Given the description of an element on the screen output the (x, y) to click on. 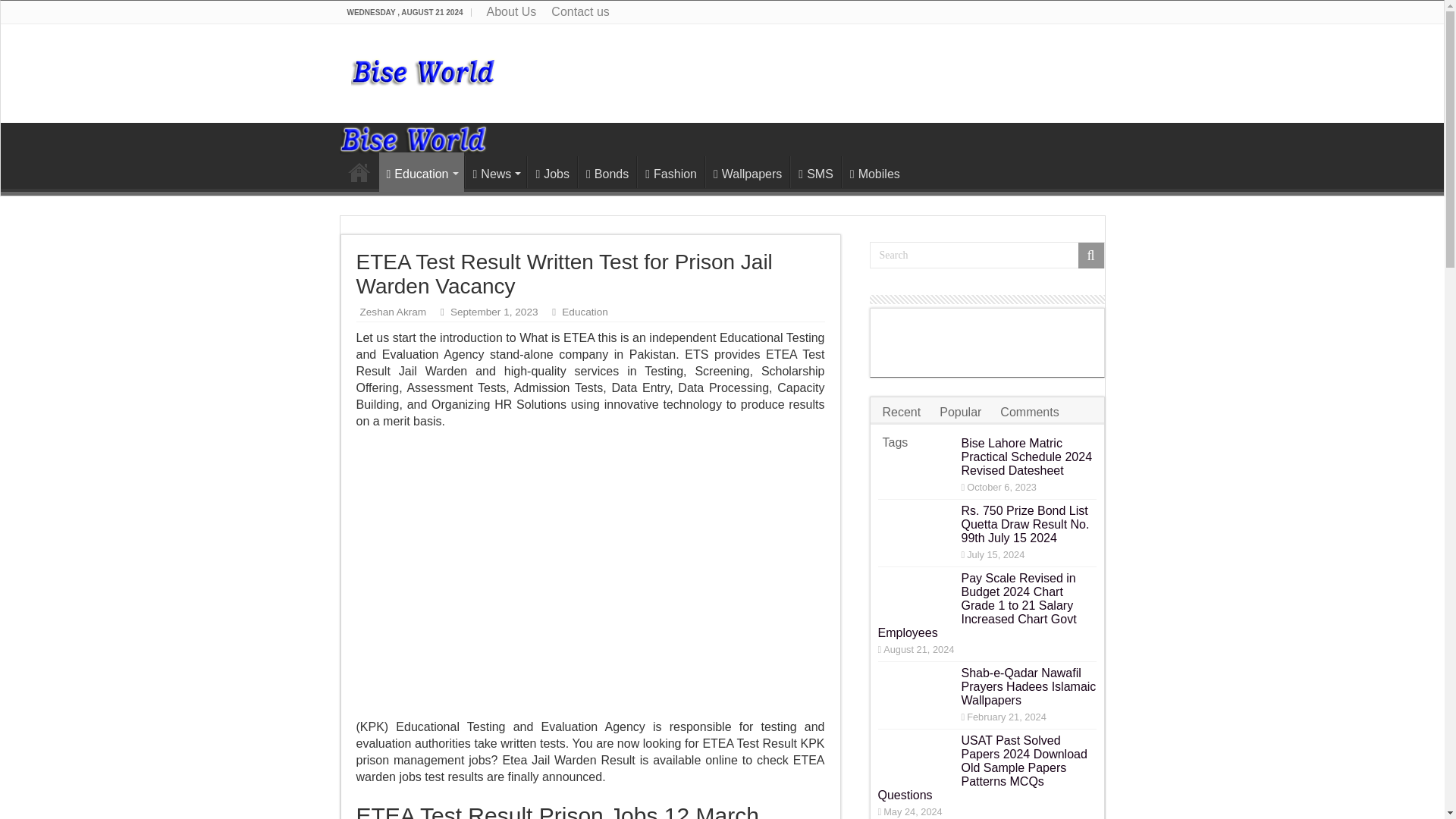
Contact us (579, 11)
SMS (815, 172)
Fashion (670, 172)
Mobiles (874, 172)
About Us (511, 11)
Zeshan Akram (392, 311)
Bonds (607, 172)
Home (358, 172)
Jobs (551, 172)
Search (1090, 255)
